Given the description of an element on the screen output the (x, y) to click on. 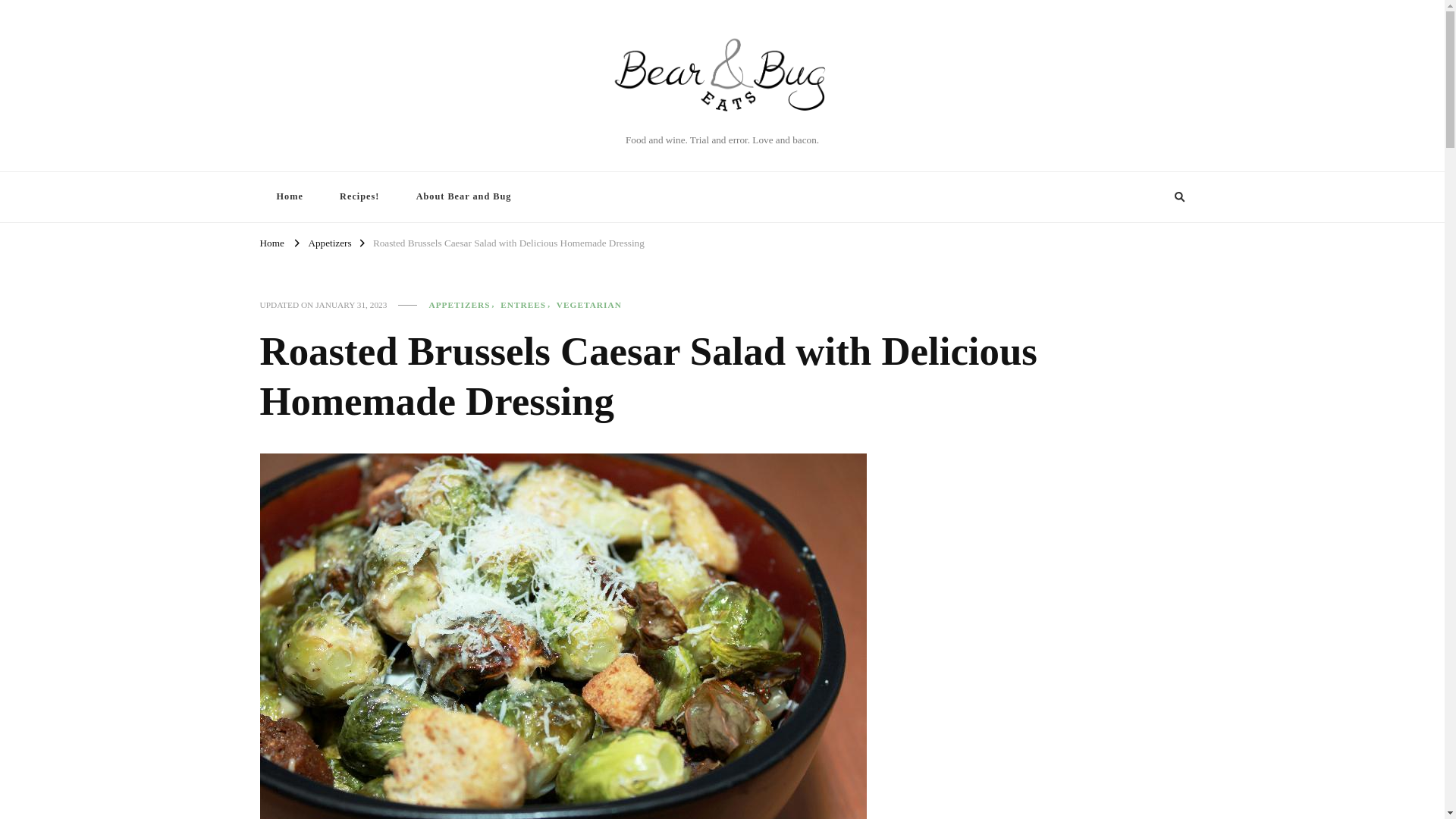
Recipes! (359, 196)
ENTREES (527, 305)
Search (1151, 197)
VEGETARIAN (588, 305)
Home (271, 242)
APPETIZERS (462, 305)
Home (288, 196)
Appetizers (328, 242)
JANUARY 31, 2023 (351, 305)
About Bear and Bug (463, 196)
